Given the description of an element on the screen output the (x, y) to click on. 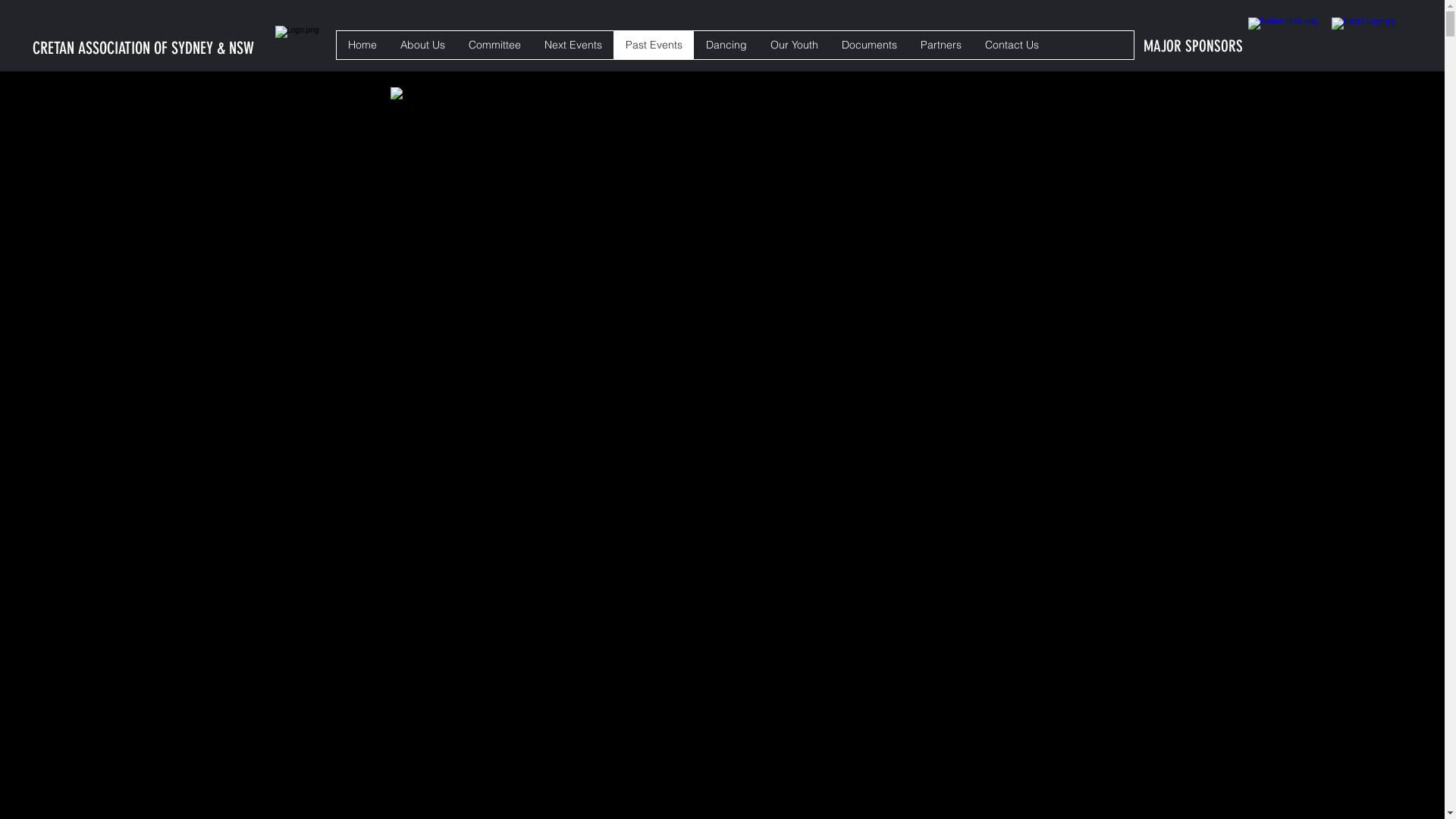
About Us Element type: text (422, 45)
Committee Element type: text (494, 45)
Our Youth Element type: text (793, 45)
Home Element type: text (362, 45)
Dancing Element type: text (725, 45)
Contact Us Element type: text (1011, 45)
Next Events Element type: text (572, 45)
Partners Element type: text (940, 45)
Documents Element type: text (868, 45)
Past Events Element type: text (653, 45)
